Given the description of an element on the screen output the (x, y) to click on. 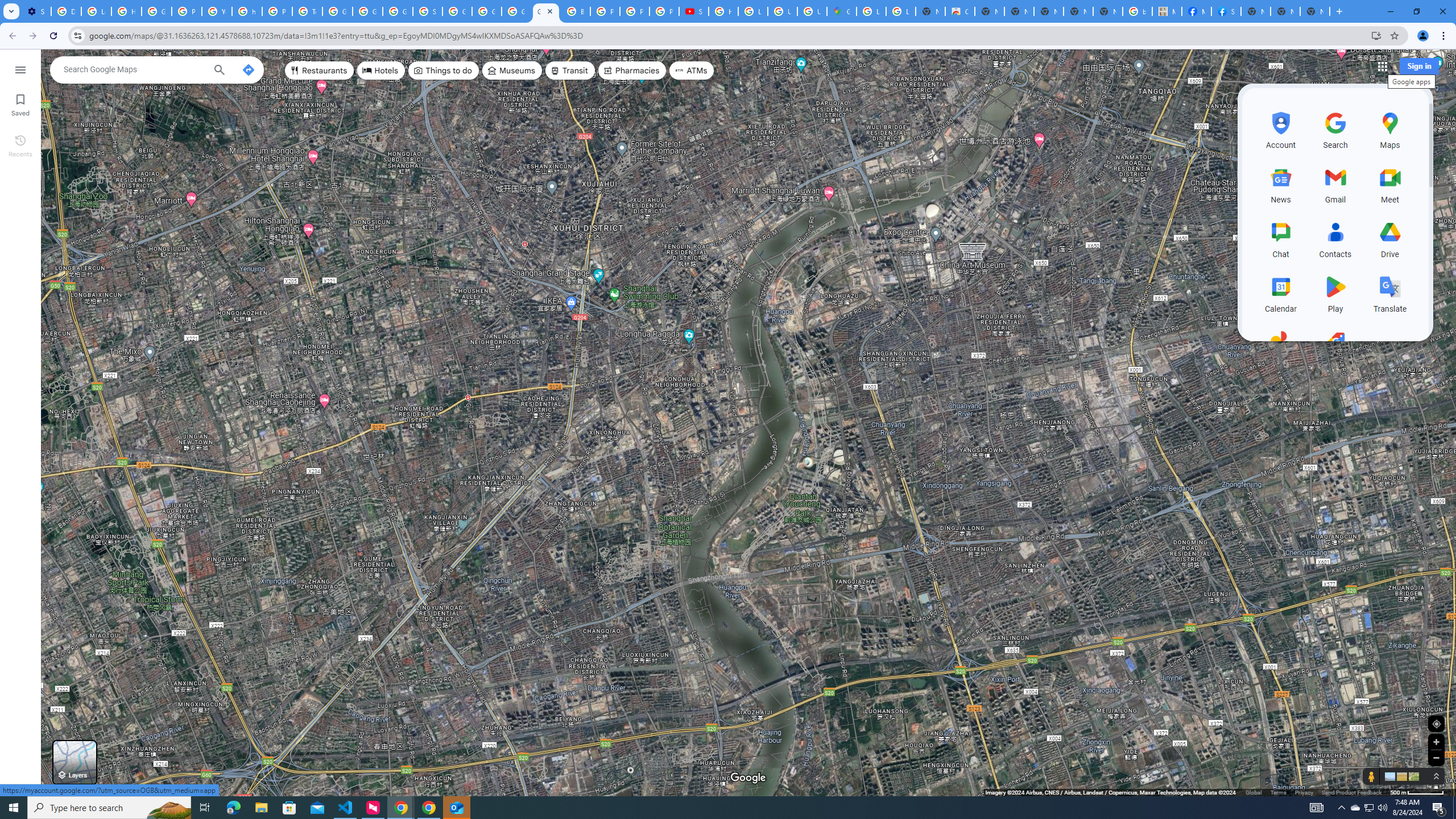
Show imagery (1412, 776)
Saved (20, 104)
Search Google Maps (133, 69)
Menu (20, 68)
